Given the description of an element on the screen output the (x, y) to click on. 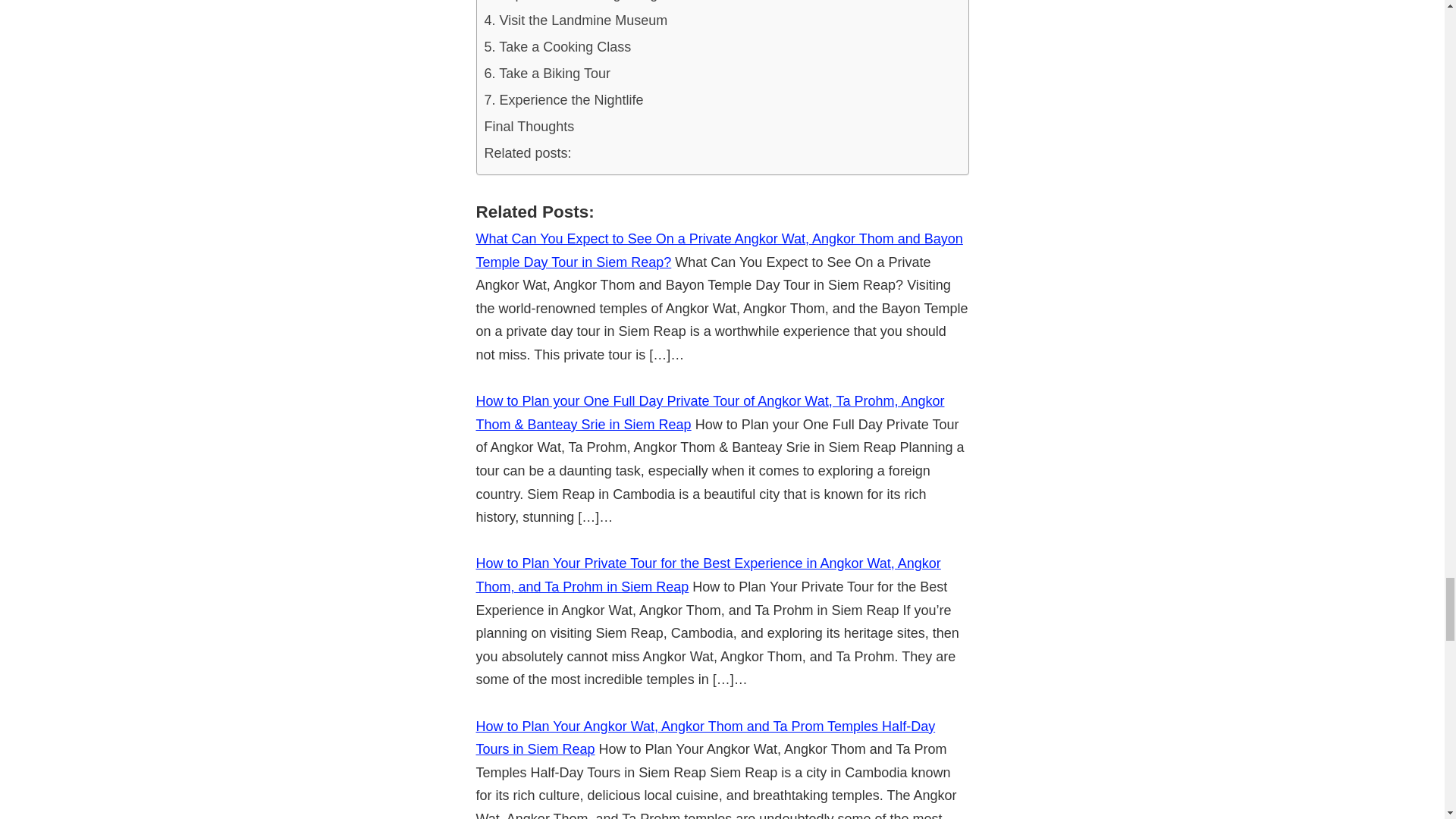
6. Take a Biking Tour (546, 73)
4. Visit the Landmine Museum (574, 20)
Final Thoughts (528, 126)
Related posts: (526, 153)
7. Experience the Nightlife (563, 99)
3. Explore the Floating Villages (577, 3)
5. Take a Cooking Class (556, 47)
